Given the description of an element on the screen output the (x, y) to click on. 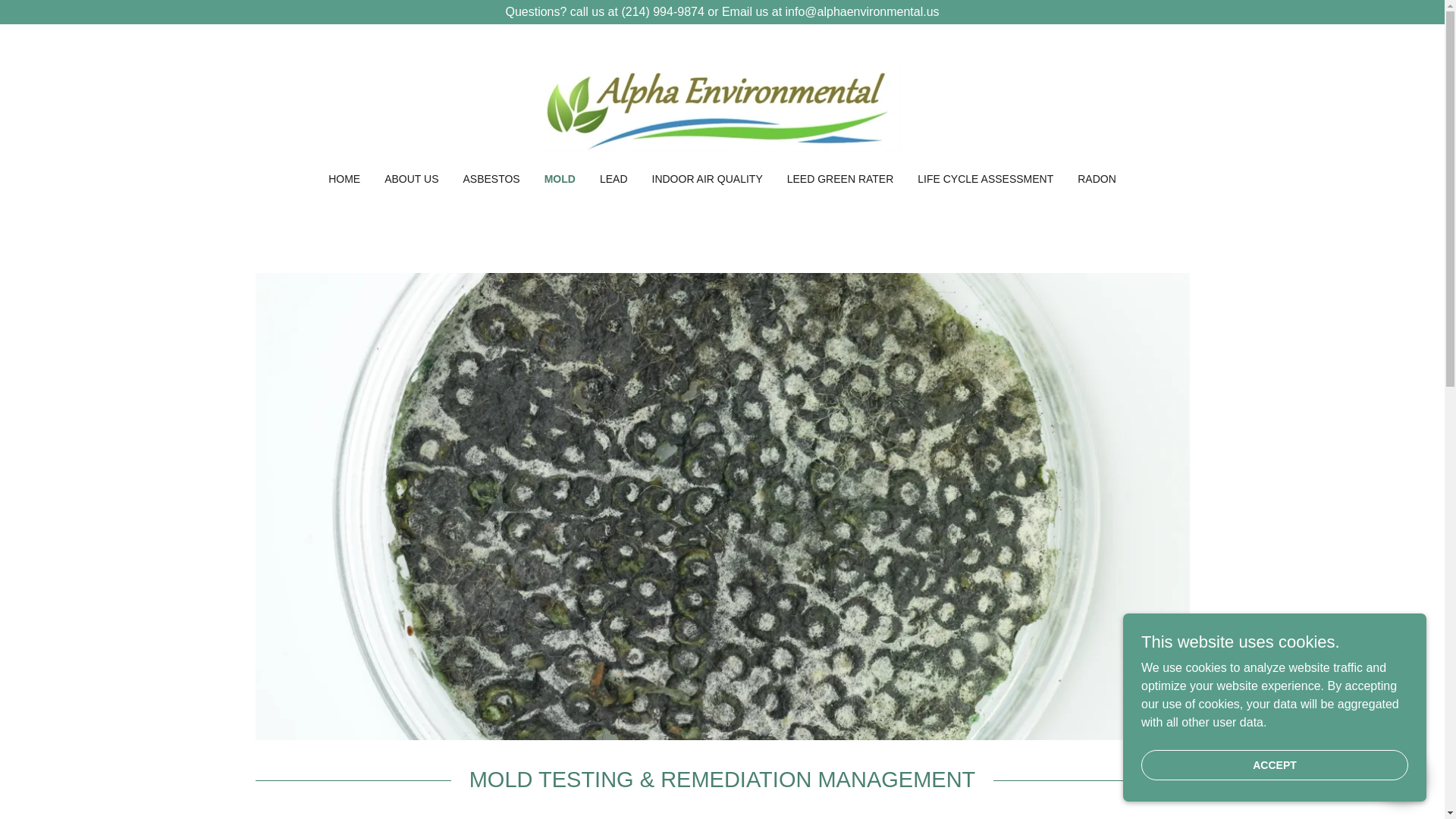
MOLD (559, 178)
LEAD (613, 178)
RADON (1097, 178)
LEED GREEN RATER (840, 178)
ASBESTOS (491, 178)
ABOUT US (411, 178)
earth greener (722, 107)
INDOOR AIR QUALITY (707, 178)
HOME (344, 178)
LIFE CYCLE ASSESSMENT (985, 178)
ACCEPT (1274, 764)
